Given the description of an element on the screen output the (x, y) to click on. 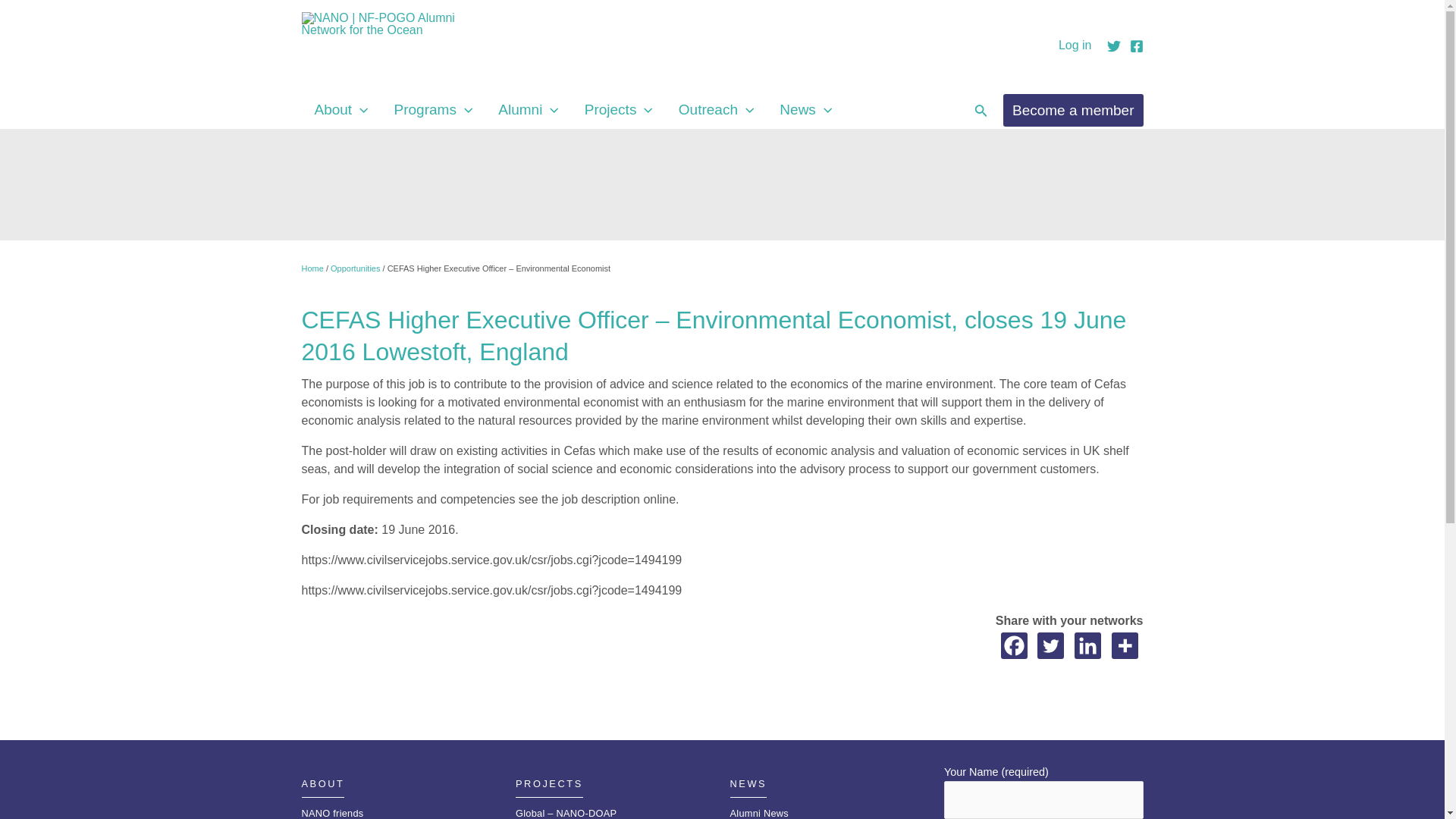
Programs (433, 109)
More (1125, 645)
News (805, 109)
Linkedin (1087, 645)
Outreach (716, 109)
Go to the Opportunities Category archives. (355, 267)
Facebook (1014, 645)
Twitter (1050, 645)
Alumni (527, 109)
About (341, 109)
Log in (1075, 45)
Projects (618, 109)
